Given the description of an element on the screen output the (x, y) to click on. 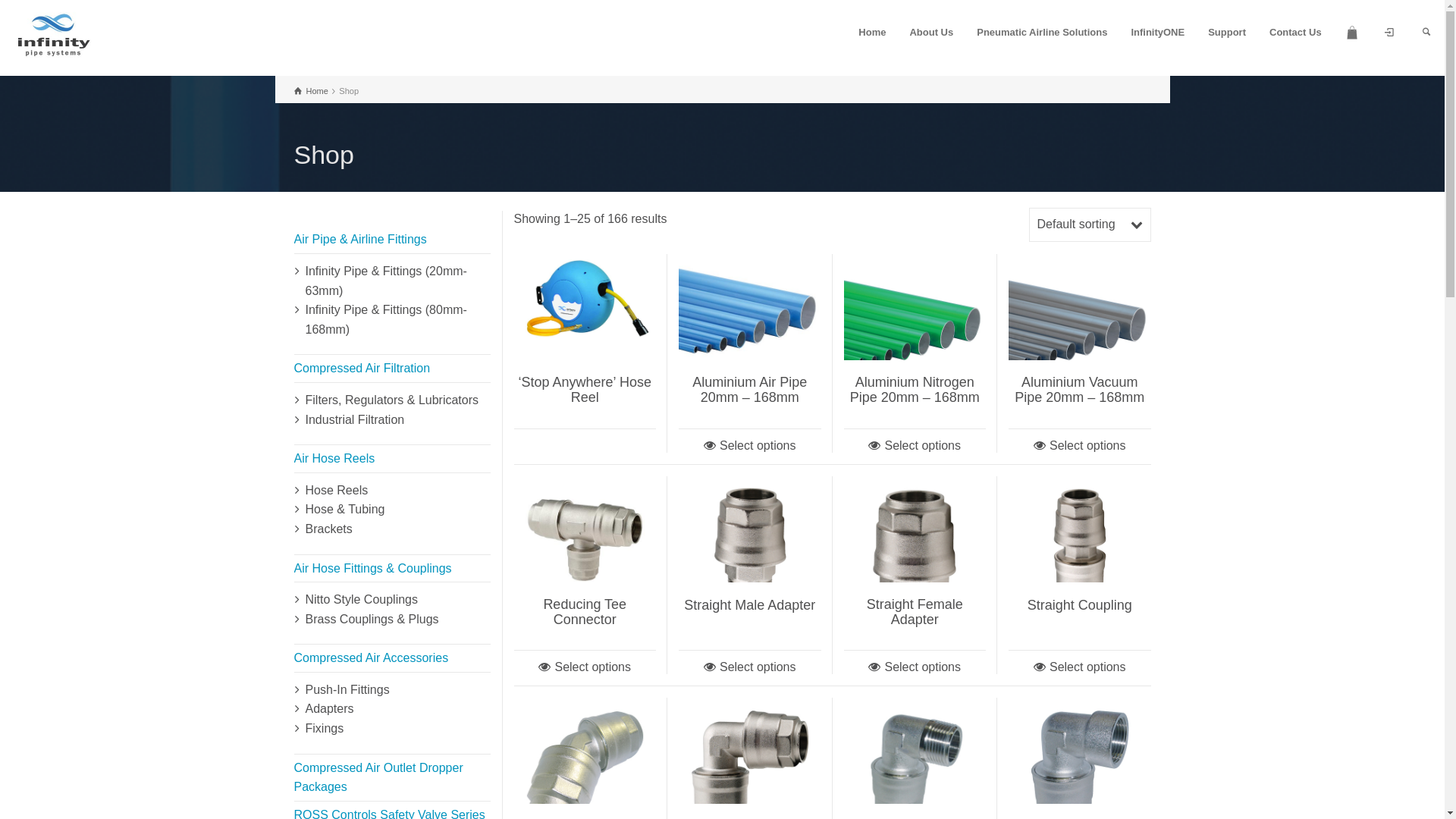
Straight Coupling Element type: text (1079, 604)
Brass Couplings & Plugs Element type: text (371, 618)
Select options Element type: text (1079, 666)
Straight Female Adapter Element type: text (914, 611)
Filters, Regulators & Lubricators Element type: text (391, 399)
Reducing Tee Connector Element type: text (584, 611)
InfinityONE Element type: text (1157, 32)
Infinity Pipe Systems Element type: hover (53, 36)
Home Element type: text (311, 90)
Compressed Air Outlet Dropper Packages Element type: text (378, 777)
Login Element type: hover (1389, 32)
Straight Male Adapter Element type: text (749, 604)
Air Hose Fittings & Couplings Element type: text (372, 567)
Brackets Element type: text (327, 528)
Pneumatic Airline Solutions Element type: text (1042, 32)
Fixings Element type: text (323, 727)
Select options Element type: text (749, 445)
Support Element type: text (1227, 32)
Home Element type: text (872, 32)
Select options Element type: text (914, 445)
Select options Element type: text (1079, 445)
Search Element type: hover (1426, 32)
Select options Element type: text (584, 666)
Hose Reels Element type: text (335, 489)
Nitto Style Couplings Element type: text (360, 599)
Compressed Air Filtration Element type: text (362, 367)
Air Hose Reels Element type: text (334, 457)
Air Pipe & Airline Fittings Element type: text (360, 238)
Industrial Filtration Element type: text (354, 419)
Contact Us Element type: text (1295, 32)
Infinity Pipe & Fittings (80mm-168mm) Element type: text (385, 319)
Hose & Tubing Element type: text (344, 508)
Select options Element type: text (914, 666)
Compressed Air Accessories Element type: text (371, 657)
Infinity Pipe & Fittings (20mm-63mm) Element type: text (385, 280)
About Us Element type: text (931, 32)
Select options Element type: text (749, 666)
Adapters Element type: text (328, 708)
Push-In Fittings Element type: text (346, 689)
